Given the description of an element on the screen output the (x, y) to click on. 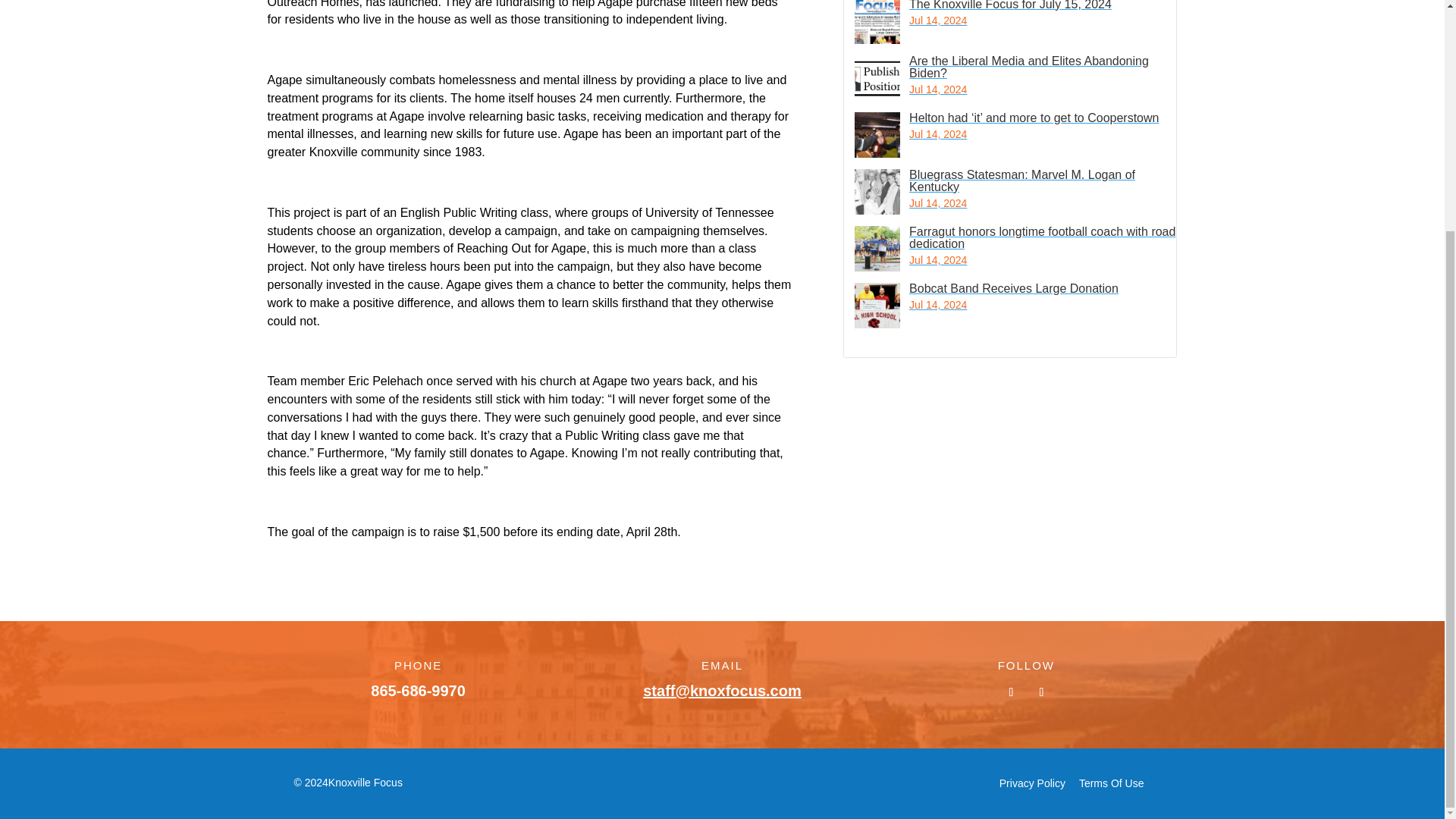
Follow on X (1040, 692)
Follow on Facebook (1010, 692)
